Given the description of an element on the screen output the (x, y) to click on. 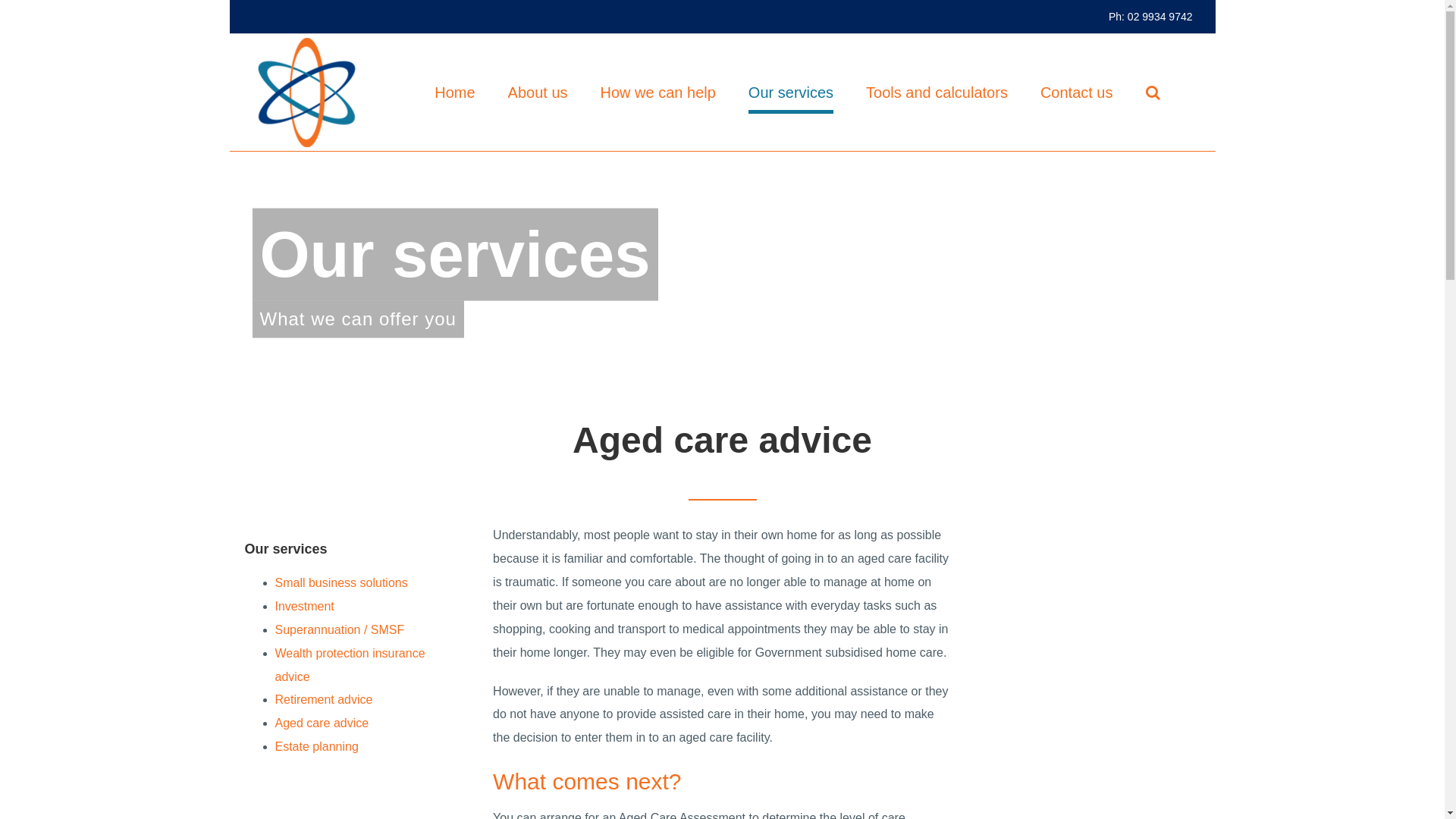
Retirement advice Element type: text (323, 699)
Estate planning Element type: text (315, 746)
Contact us Element type: text (1076, 92)
Home Element type: text (454, 92)
Wealth protection insurance advice Element type: text (349, 664)
Our services Element type: text (790, 92)
Tools and calculators Element type: text (936, 92)
About us Element type: text (537, 92)
Investment Element type: text (303, 605)
How we can help Element type: text (657, 92)
Search Element type: hover (1152, 92)
Superannuation / SMSF Element type: text (339, 629)
Aged care advice Element type: text (321, 722)
Small business solutions Element type: text (340, 582)
